Given the description of an element on the screen output the (x, y) to click on. 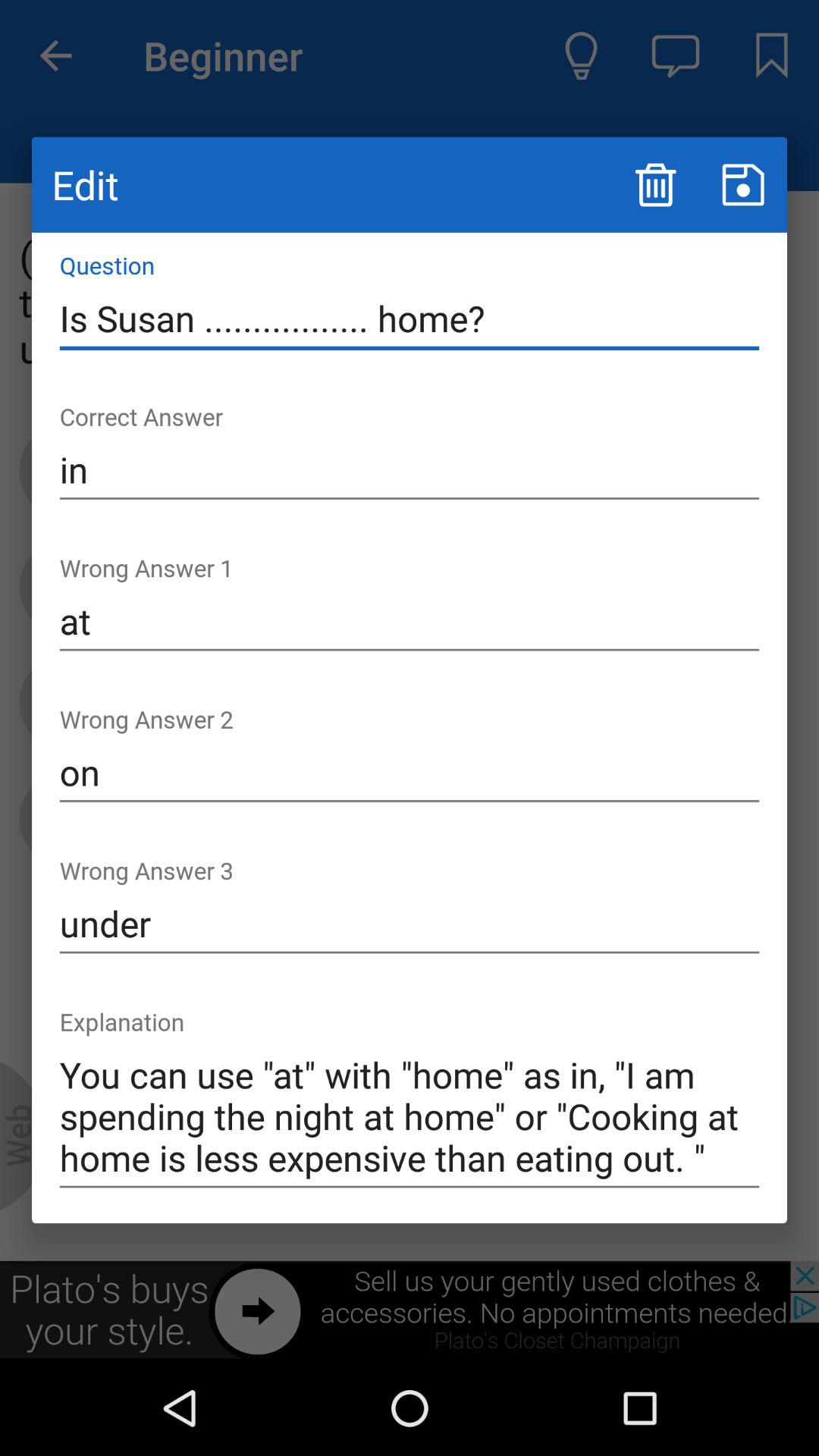
delete (655, 184)
